Given the description of an element on the screen output the (x, y) to click on. 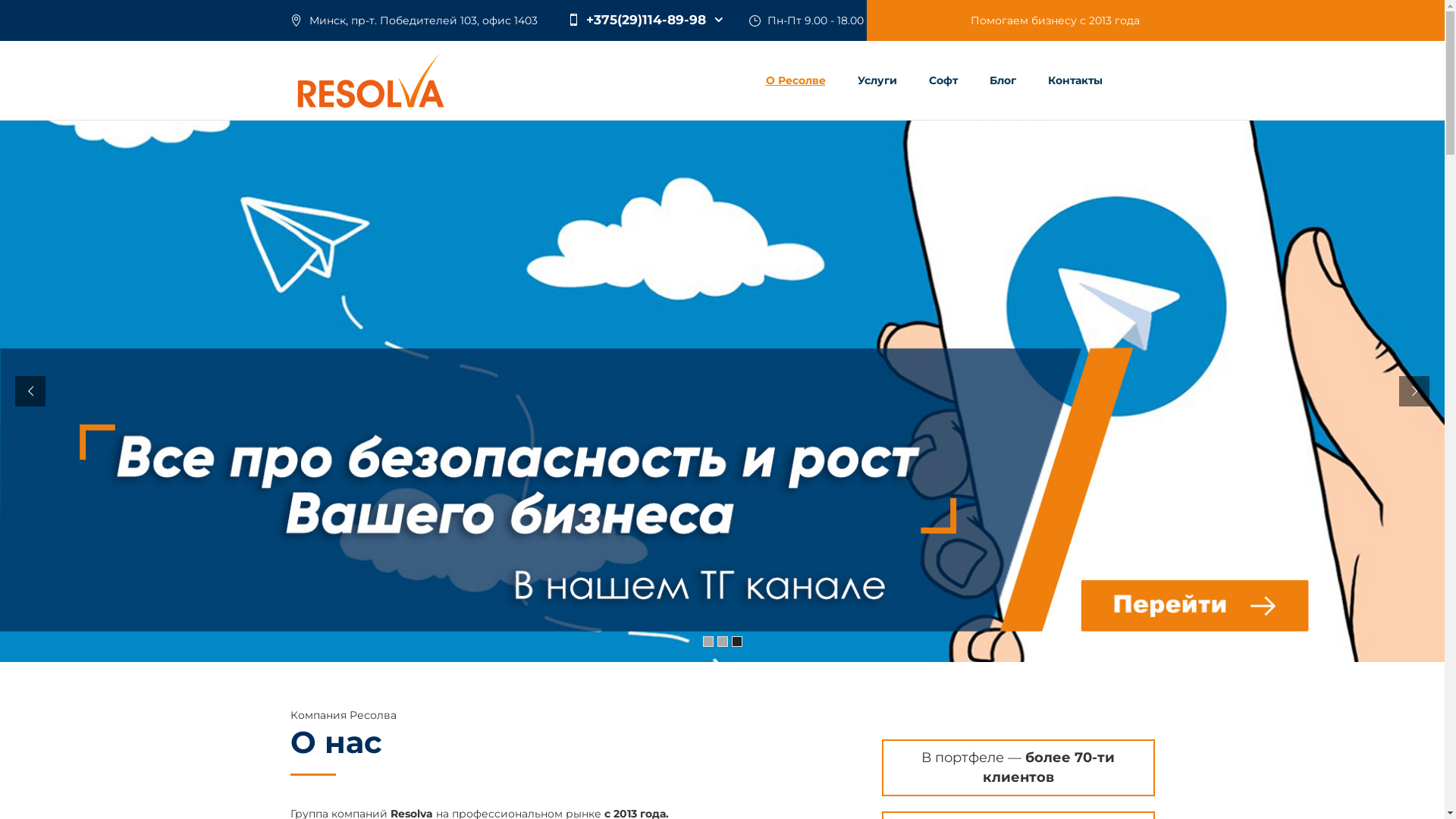
+375(29)114-89-98 Element type: text (644, 19)
